Given the description of an element on the screen output the (x, y) to click on. 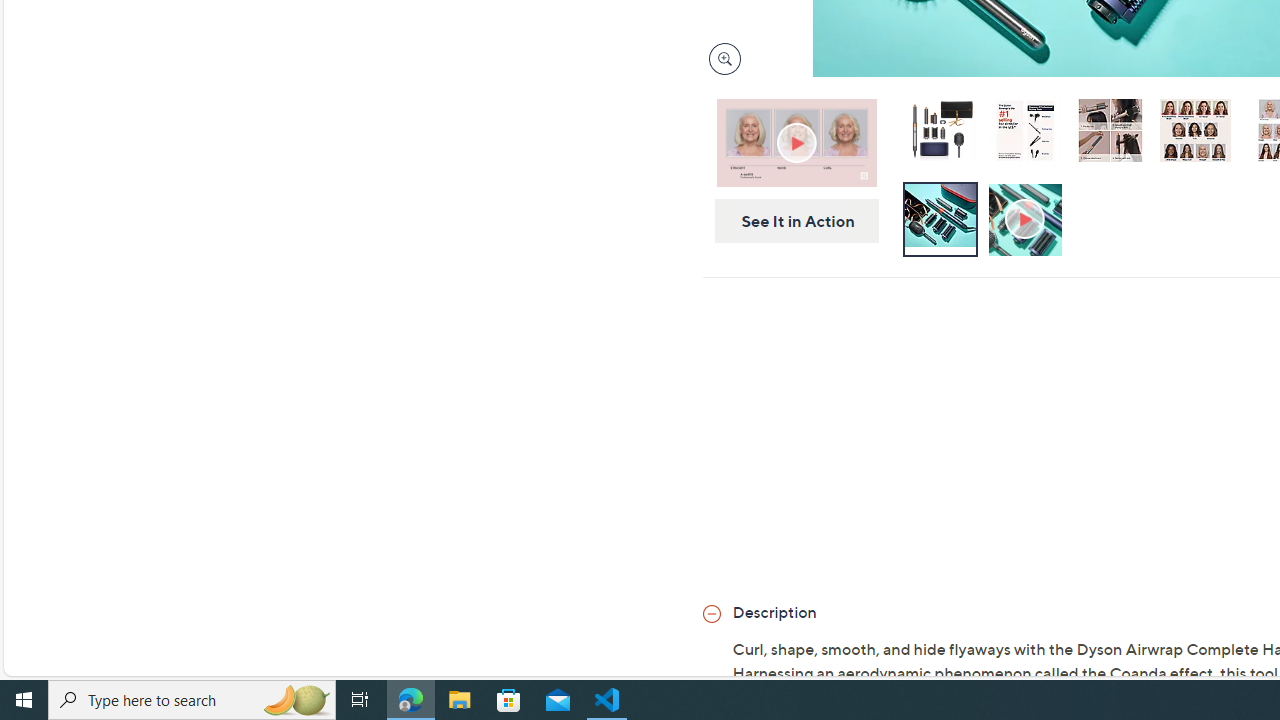
Magnify Image (724, 57)
Microsoft Edge - 1 running window (411, 699)
Dyson Airwrap Complete with Paddle Brush and Travel Pouch (939, 133)
